Given the description of an element on the screen output the (x, y) to click on. 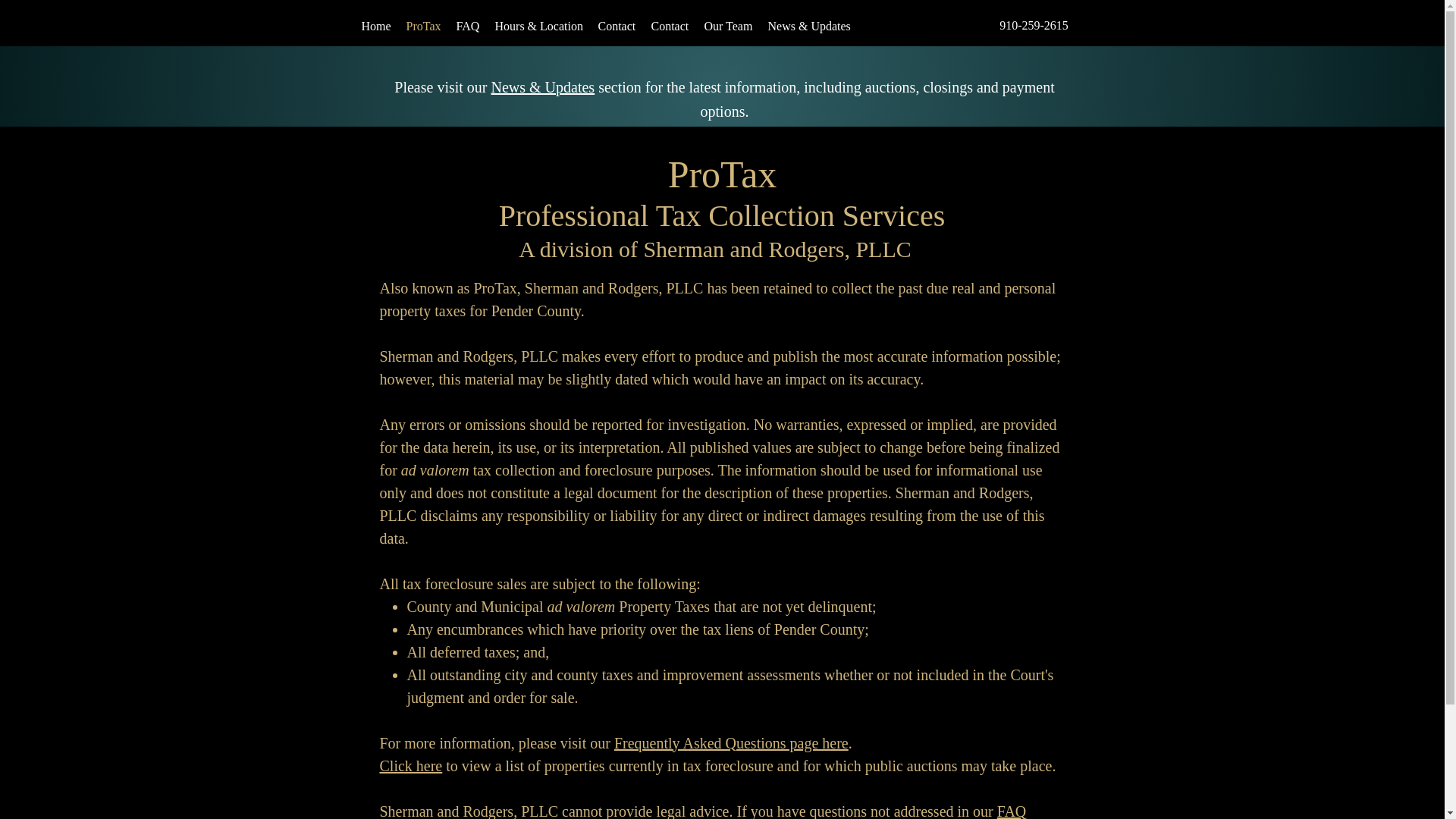
Click here (410, 764)
FAQ (467, 26)
Contact (616, 26)
Contact (669, 26)
Frequently Asked Questions page here (731, 742)
Our Team (727, 26)
Home (375, 26)
FAQ section (702, 810)
ProTax (423, 26)
